Given the description of an element on the screen output the (x, y) to click on. 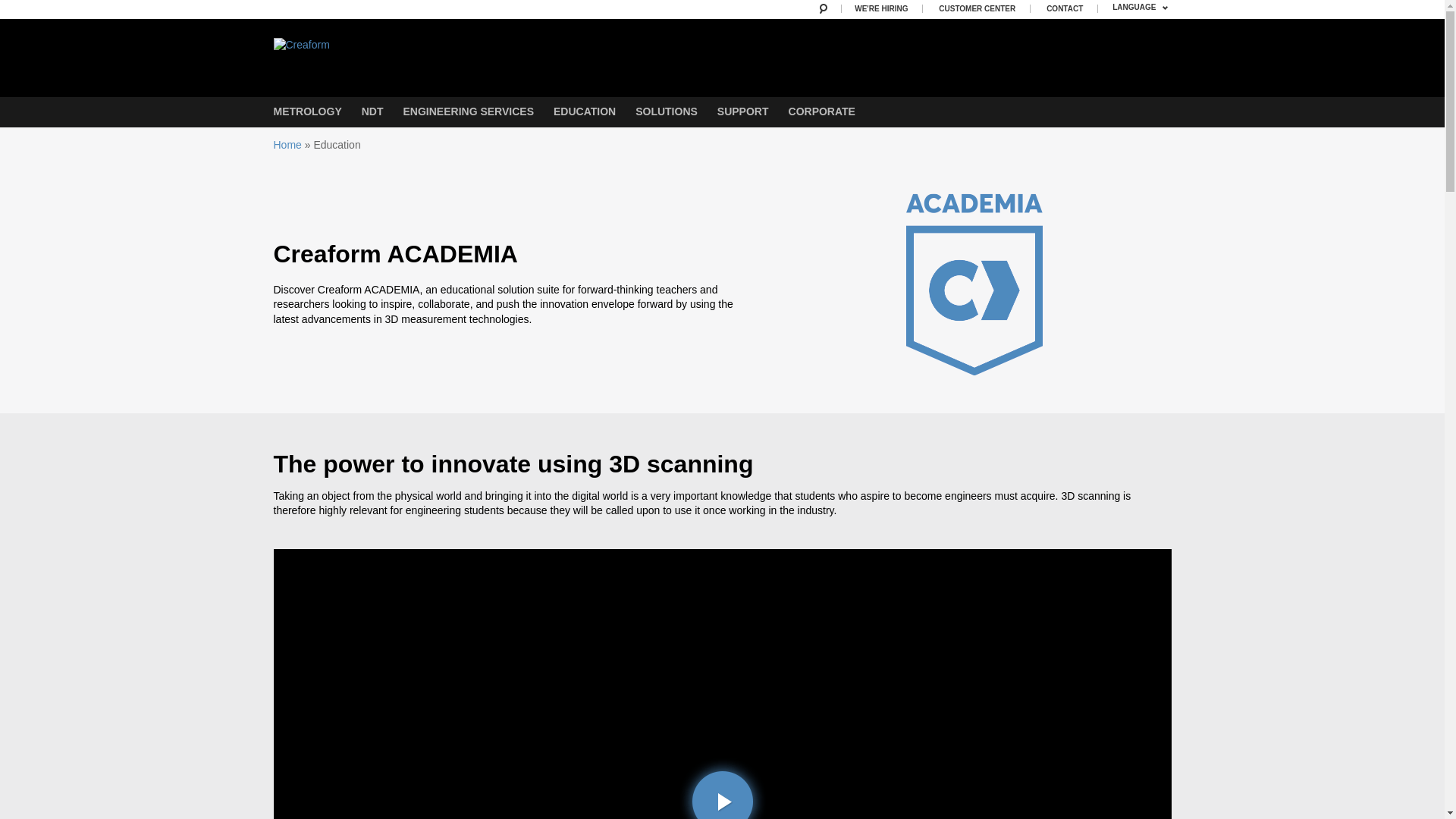
CUSTOMER CENTER (978, 8)
NDT (372, 111)
METROLOGY (306, 111)
LANGUAGE (1141, 8)
CONTACT (1065, 8)
WE'RE HIRING (882, 8)
Home (405, 37)
